Given the description of an element on the screen output the (x, y) to click on. 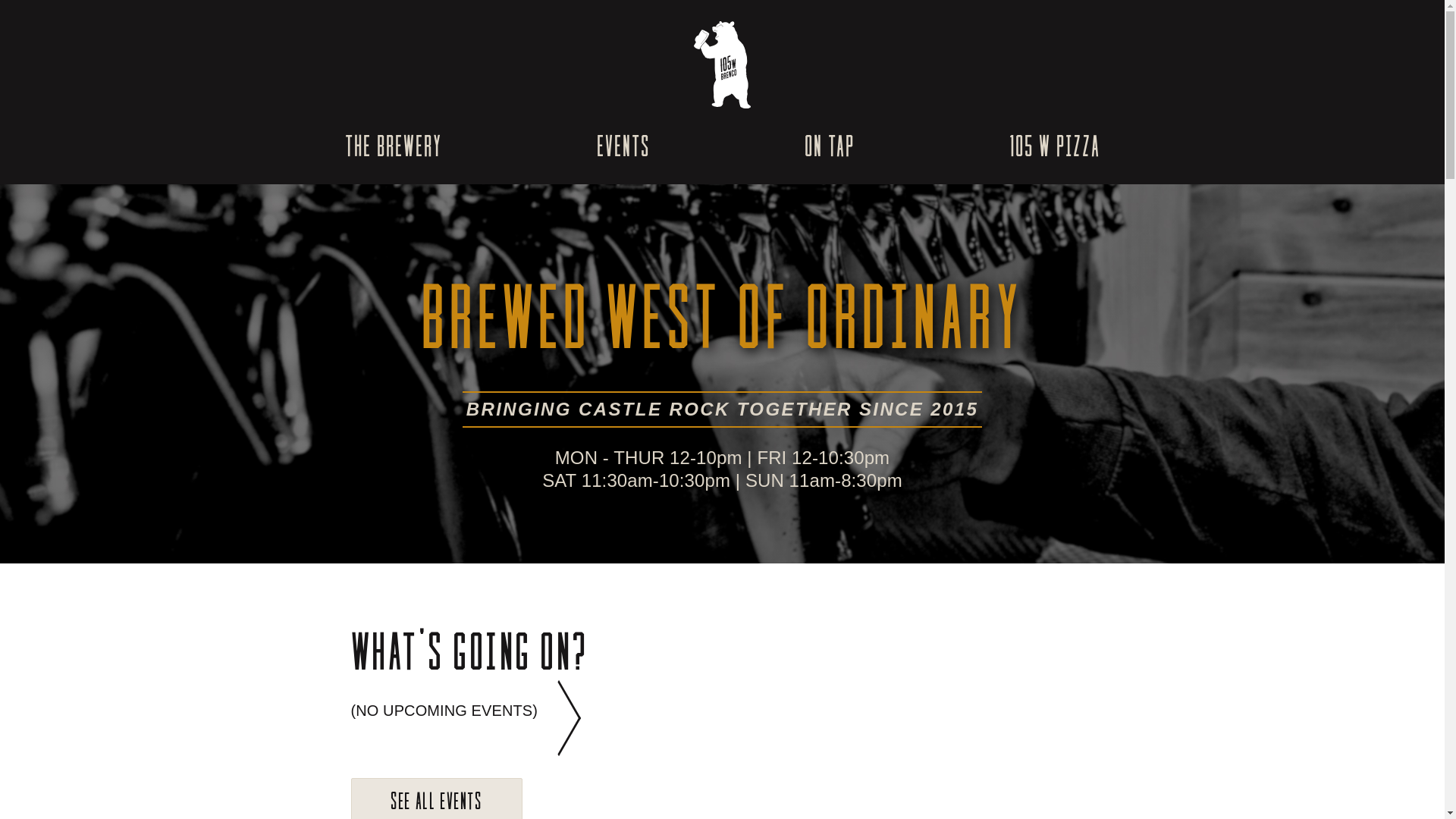
On Tap Element type: text (828, 143)
The Brewery Element type: text (392, 143)
105 W Pizza Element type: text (1053, 143)
Events Element type: text (622, 143)
